Given the description of an element on the screen output the (x, y) to click on. 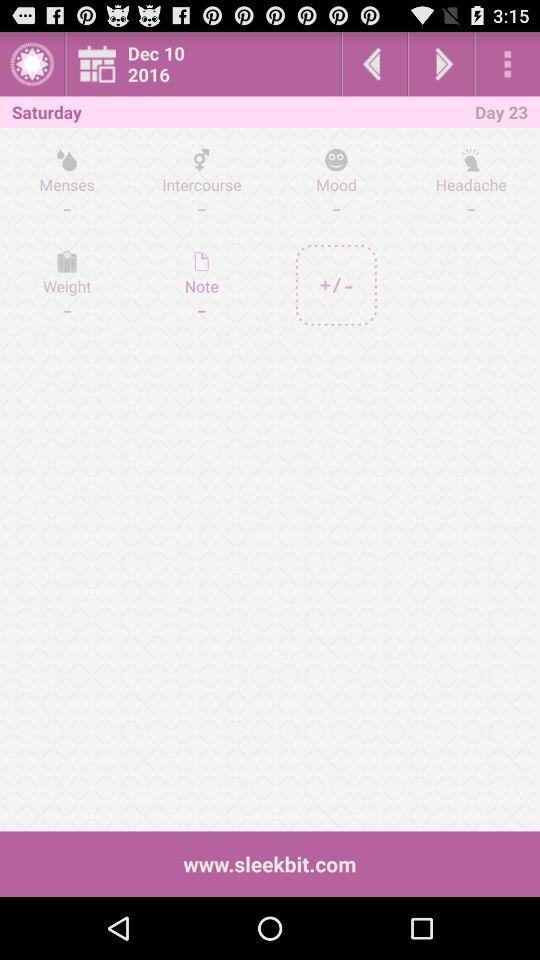
go to previous page (374, 63)
